Given the description of an element on the screen output the (x, y) to click on. 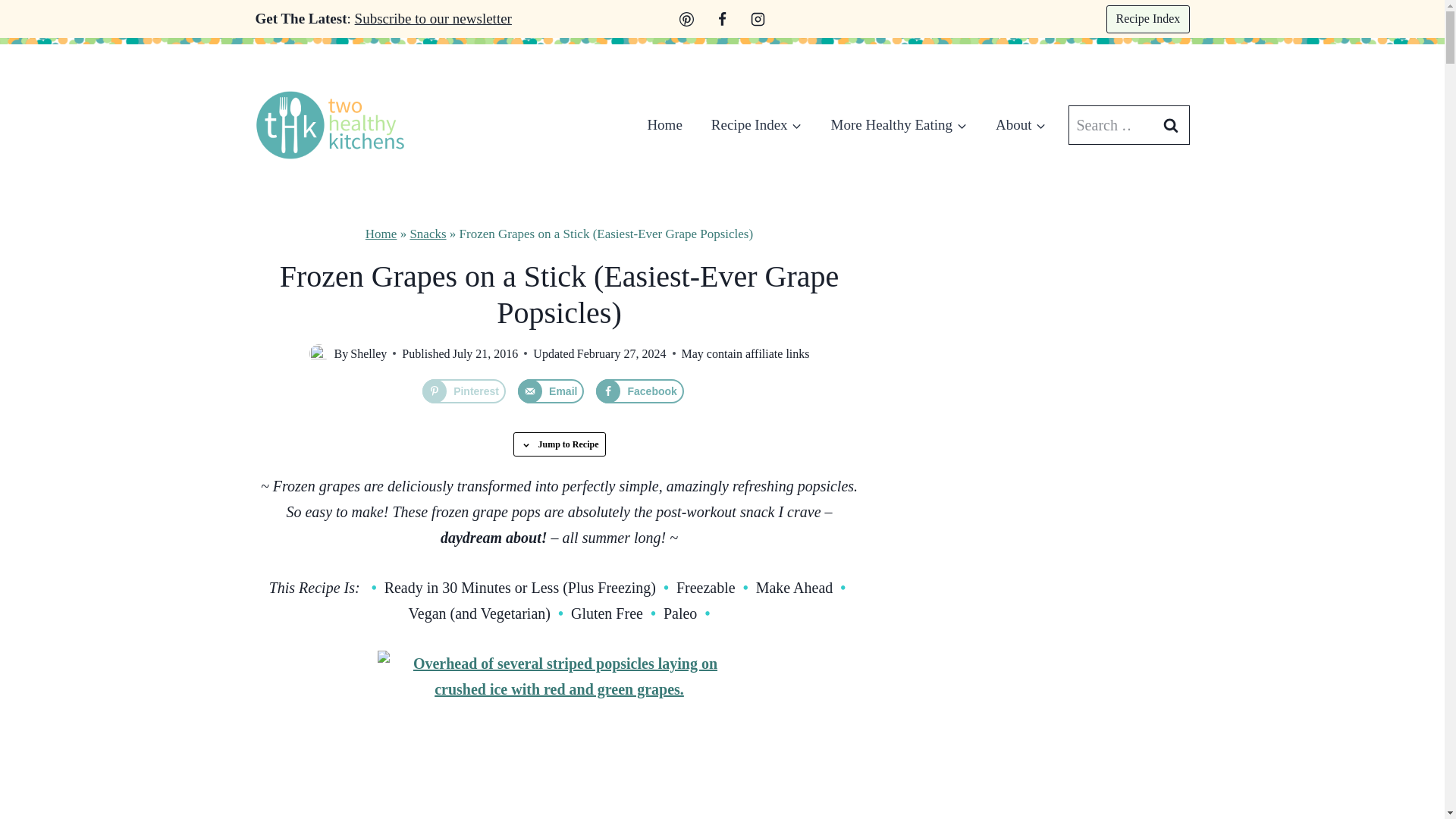
Subscribe to our newsletter (433, 18)
Frozen Grapes with Grapes vert watermarked resized (559, 734)
Share on Facebook (638, 391)
Send over email (550, 391)
Recipe Index (1147, 18)
Home (663, 124)
Search (1170, 124)
Save to Pinterest (463, 391)
Search (1170, 124)
Recipe Index (756, 124)
